Given the description of an element on the screen output the (x, y) to click on. 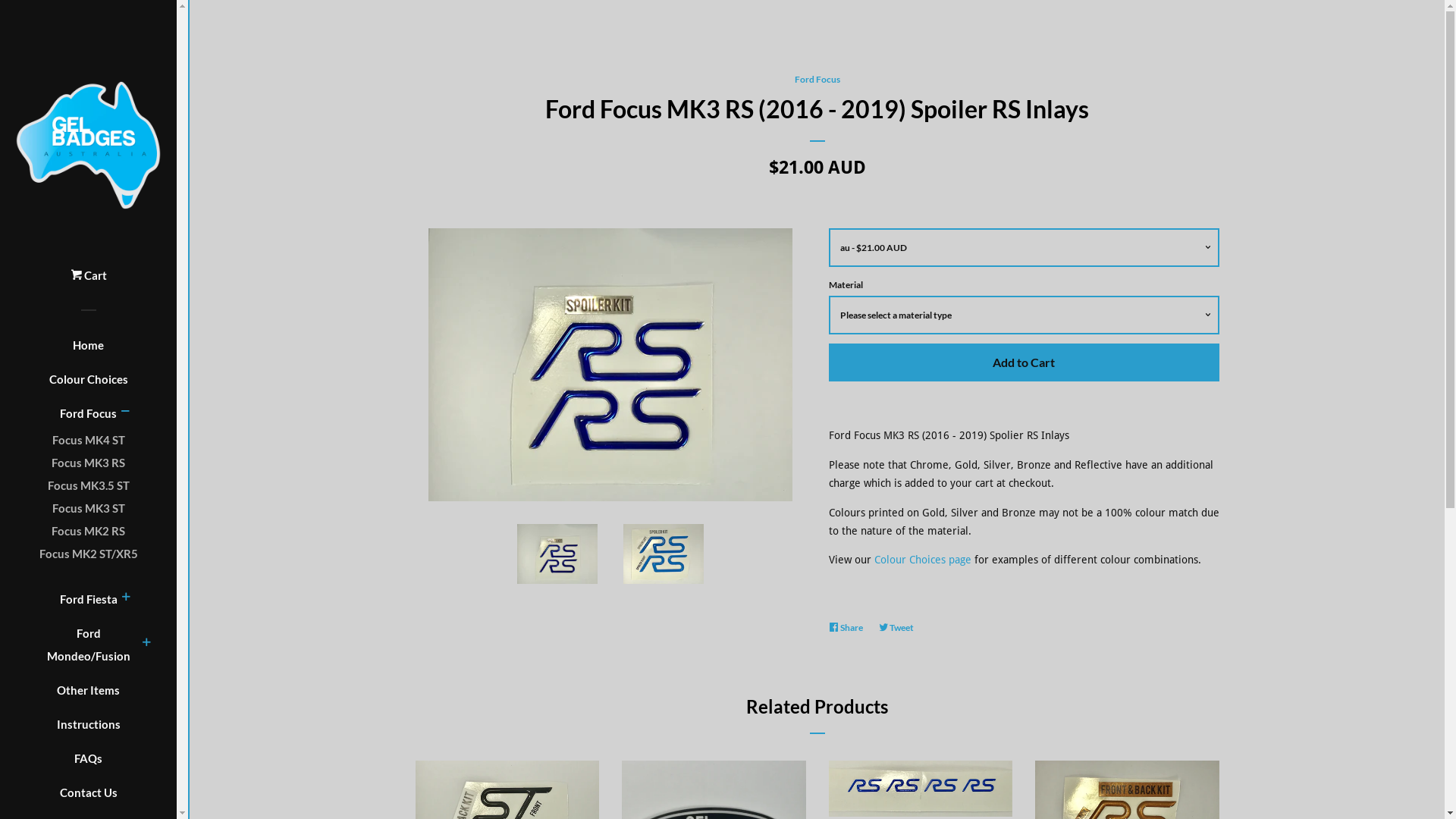
Focus MK2 RS Element type: text (87, 530)
Ford Focus Element type: text (87, 418)
Ford Fiesta Element type: text (87, 604)
Focus MK3 RS Element type: text (87, 462)
Add to Cart Element type: text (1023, 362)
Other Items Element type: text (87, 695)
Instructions Element type: text (87, 729)
Focus MK3 ST Element type: text (87, 507)
Tweet
Tweet on Twitter Element type: text (899, 627)
Contact Us Element type: text (87, 798)
Ford Mondeo/Fusion Element type: text (88, 649)
Ford Focus Element type: text (817, 78)
Focus MK3.5 ST Element type: text (87, 484)
Cart Element type: text (87, 280)
expand Element type: text (146, 643)
collapse Element type: text (124, 412)
Share
Share on Facebook Element type: text (848, 627)
Colour Choices page Element type: text (921, 559)
Colour Choices Element type: text (87, 384)
FAQs Element type: text (87, 763)
Focus MK4 ST Element type: text (87, 439)
Focus MK2 ST/XR5 Element type: text (87, 553)
expand Element type: text (124, 597)
Home Element type: text (87, 350)
